Given the description of an element on the screen output the (x, y) to click on. 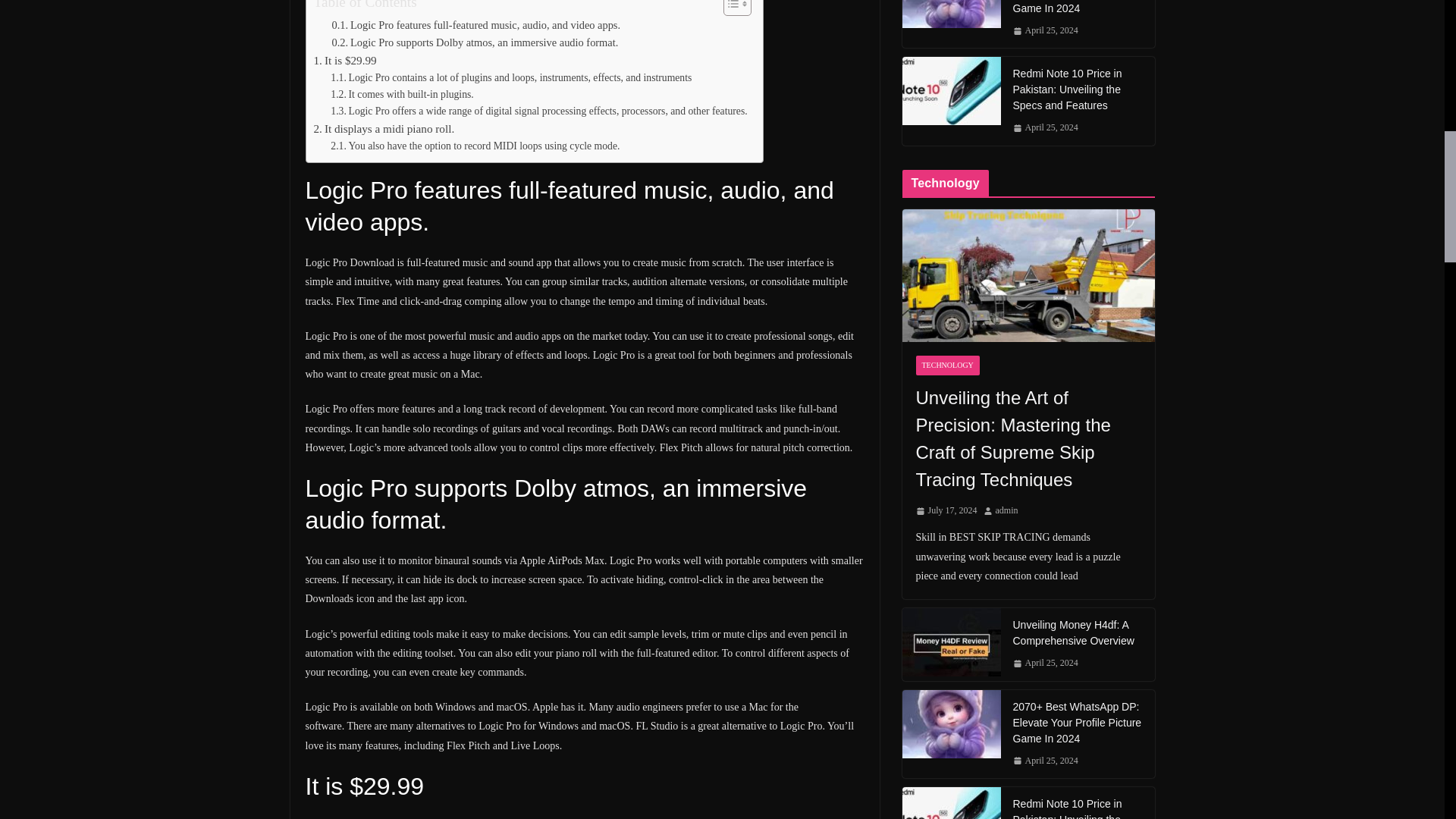
Logic Pro supports Dolby atmos, an immersive audio format. (474, 42)
It comes with built-in plugins. (401, 94)
It displays a midi piano roll. (384, 128)
Logic Pro supports Dolby atmos, an immersive audio format. (474, 42)
It displays a midi piano roll. (384, 128)
It comes with built-in plugins. (401, 94)
